Given the description of an element on the screen output the (x, y) to click on. 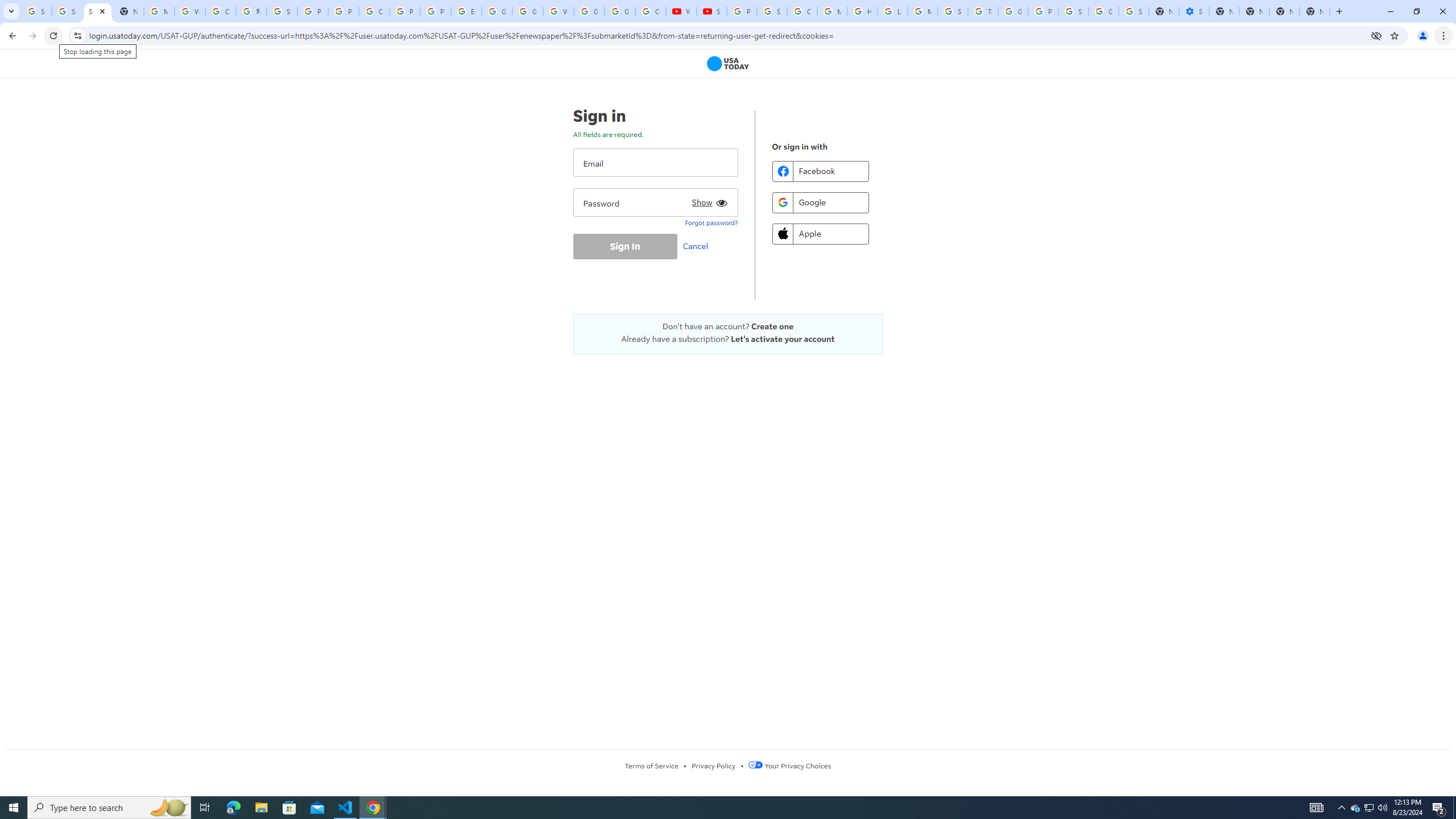
Who is my administrator? - Google Account Help (189, 11)
Search our Doodle Library Collection - Google Doodles (952, 11)
Forgot password? (711, 221)
Show (707, 200)
New Tab (1314, 11)
Sign In - USA TODAY (97, 11)
Account Username (655, 162)
Don't have an account? Create one (727, 326)
Subscriptions - YouTube (711, 11)
